Given the description of an element on the screen output the (x, y) to click on. 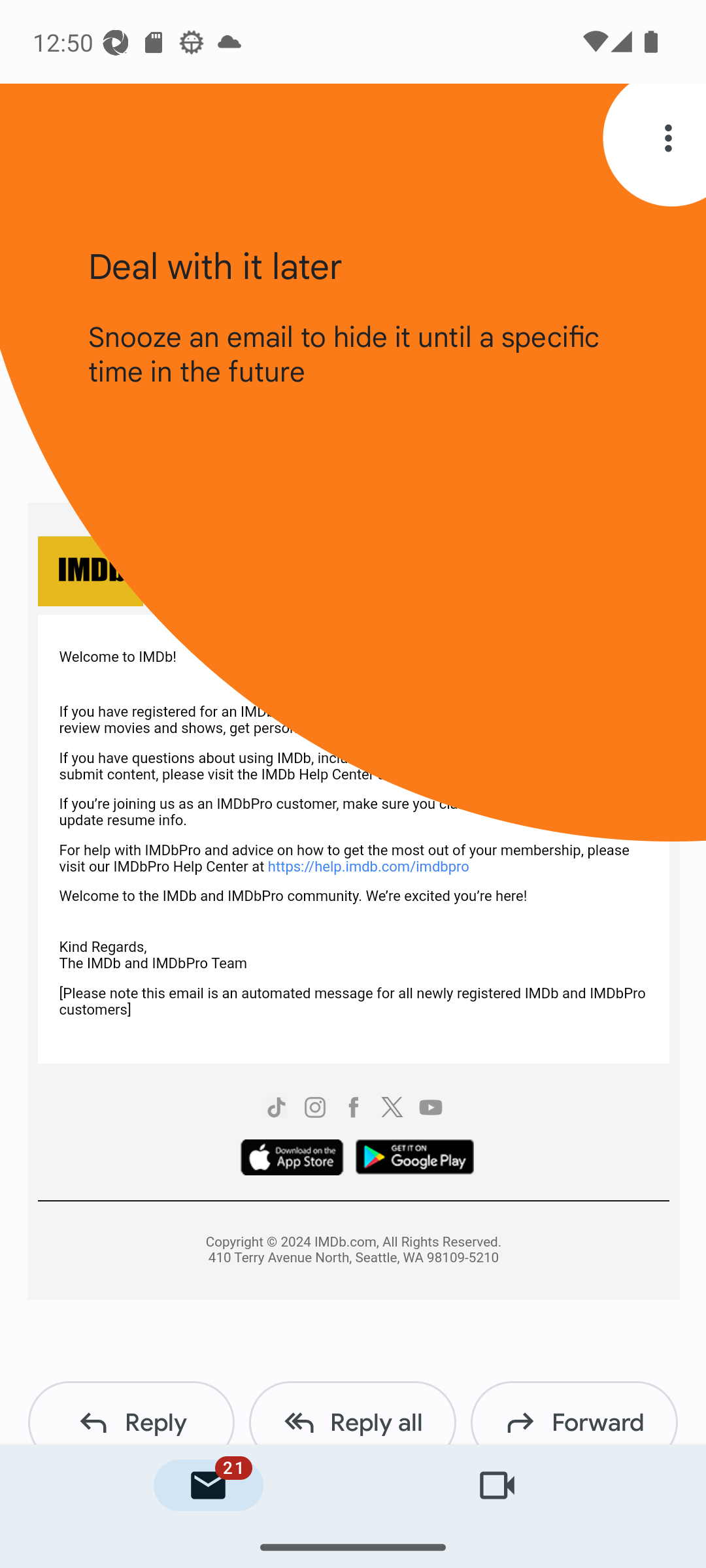
More options (671, 137)
IMDb Logo (90, 572)
https://help.imdb.com/imdbpro (367, 865)
IMDb on TikTok (275, 1109)
IMDb on Instagram (315, 1109)
IMDb on Facebook (352, 1109)
IMDb on X (391, 1109)
IMDb on YouTube (430, 1109)
apple_113x34 (292, 1159)
google_113x34 (414, 1159)
Reply (131, 1412)
Reply all (352, 1412)
Forward (573, 1412)
Meet (497, 1485)
